Given the description of an element on the screen output the (x, y) to click on. 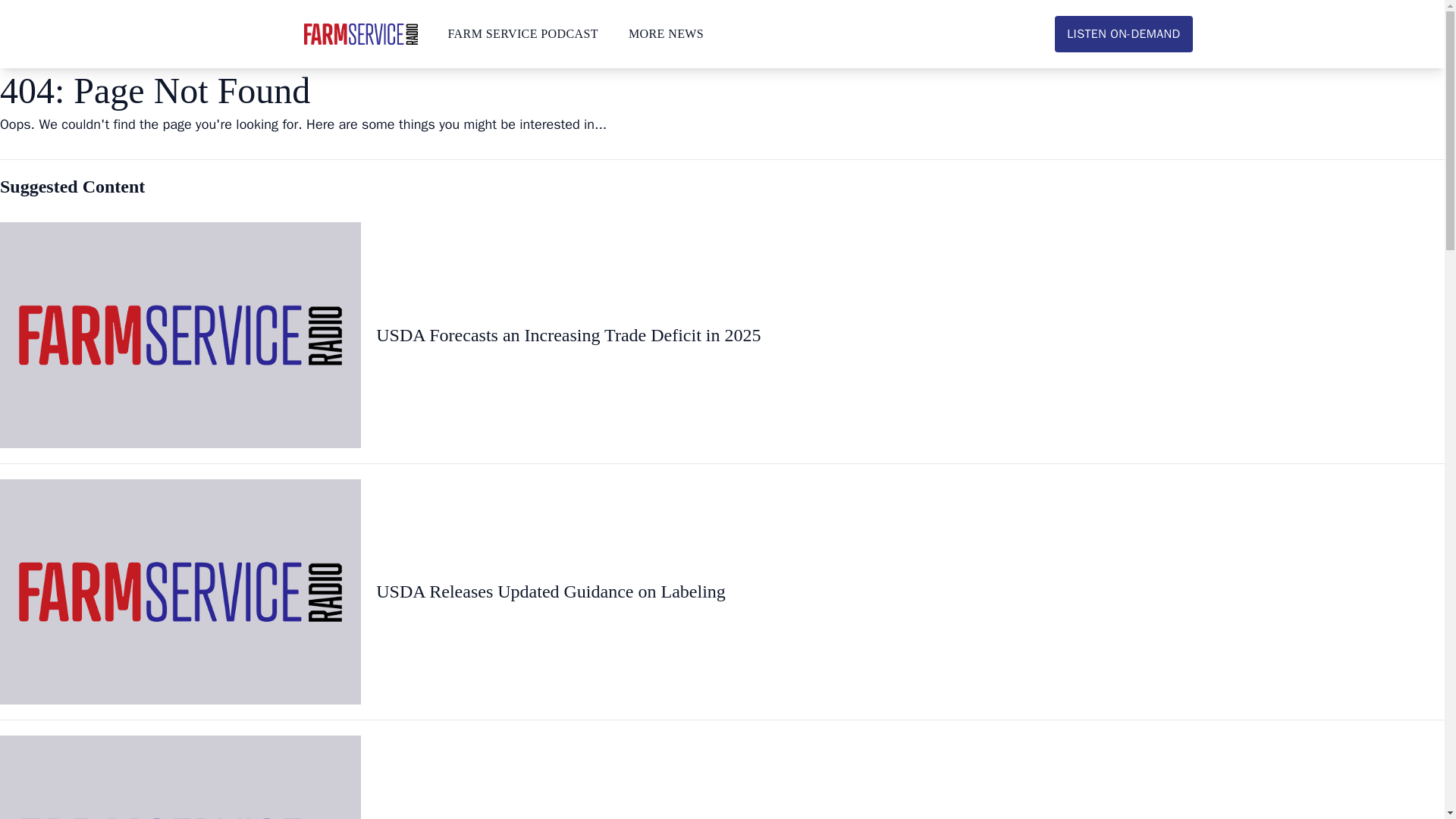
Farm Service Radio (359, 34)
MORE NEWS (665, 33)
FARM SERVICE PODCAST (521, 33)
LISTEN ON-DEMAND (1123, 33)
